Given the description of an element on the screen output the (x, y) to click on. 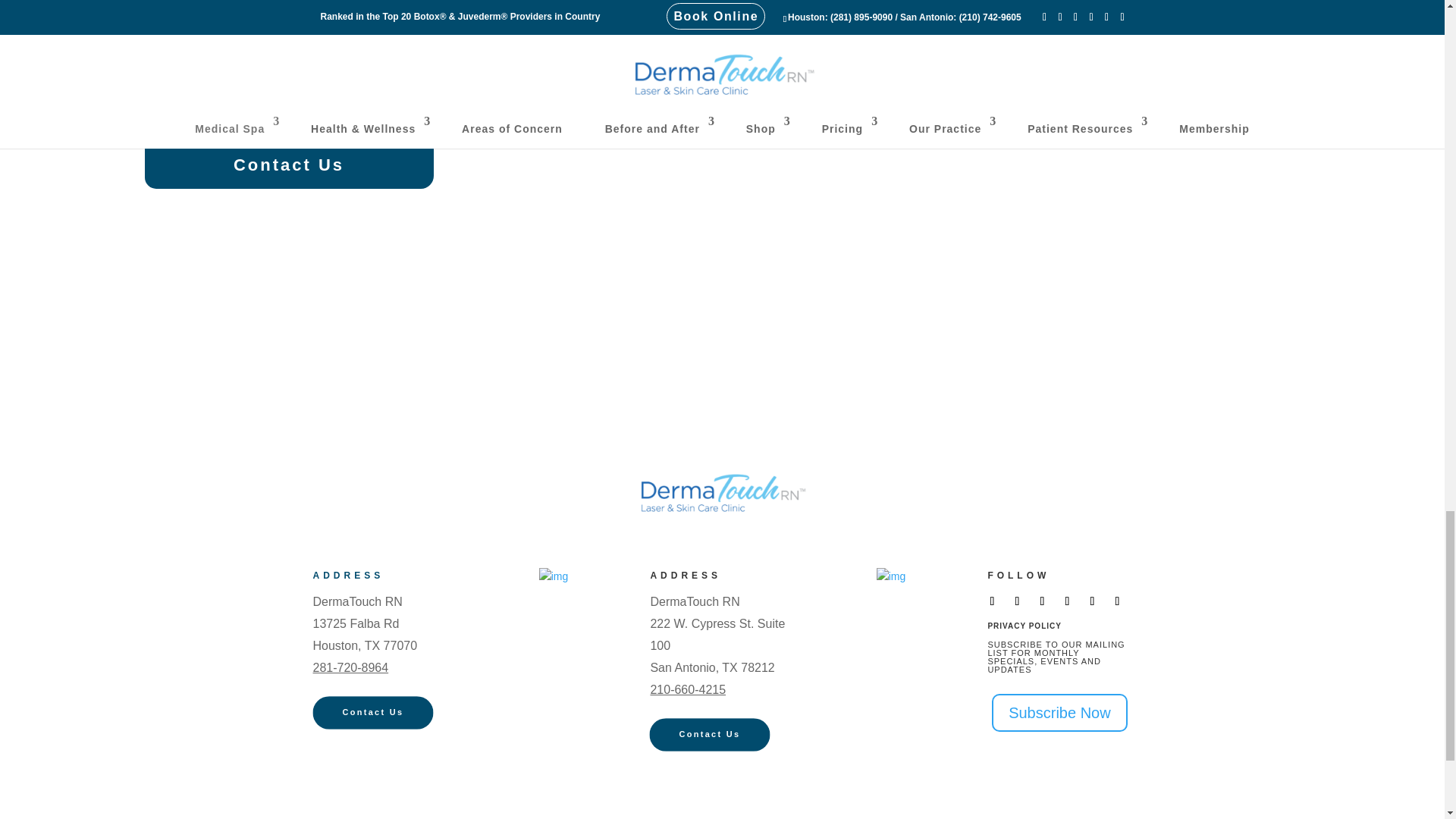
Follow on Facebook (991, 600)
Follow on Youtube (1066, 600)
Follow on Twitter (1016, 600)
Follow on Instagram (1041, 600)
Follow on LinkedIn (1117, 600)
Follow on Pinterest (1091, 600)
